Given the description of an element on the screen output the (x, y) to click on. 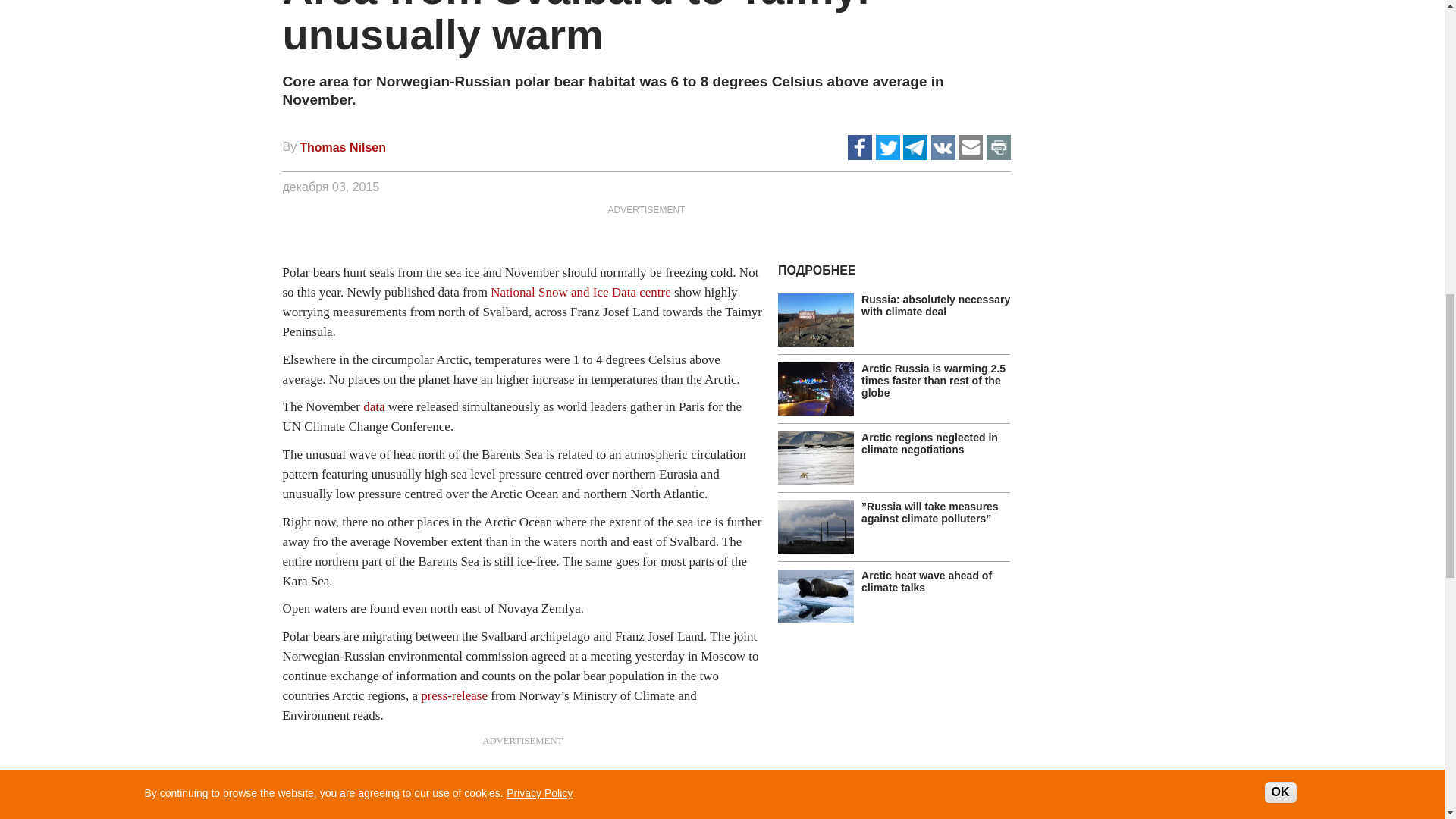
data (373, 406)
Thomas Nilsen (342, 146)
National Snow and Ice Data centre (579, 292)
press-release (453, 695)
Russia: absolutely necessary with climate deal (935, 305)
